Given the description of an element on the screen output the (x, y) to click on. 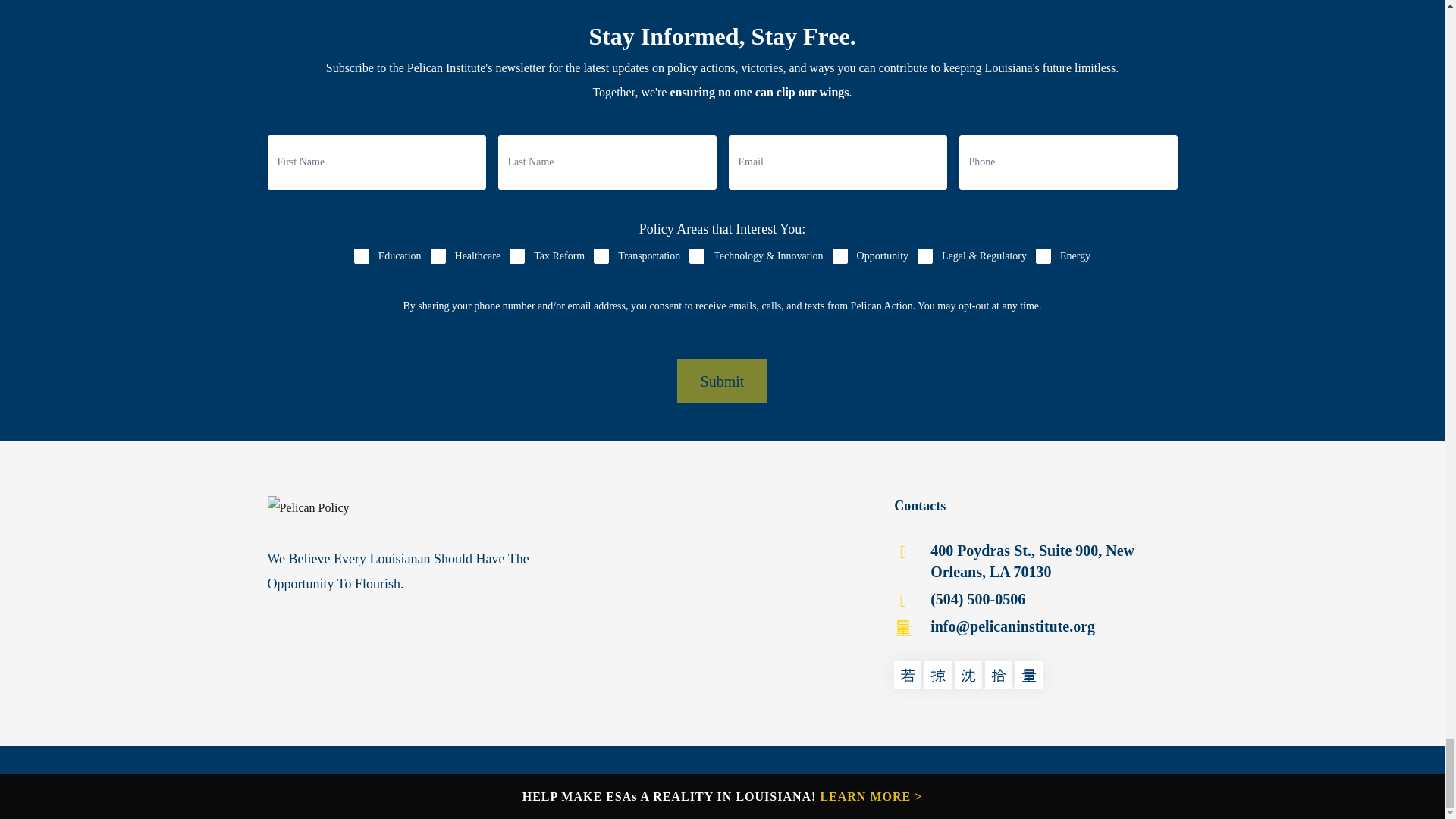
Opportunity (839, 255)
Submit (722, 381)
Education (361, 255)
Energy (1043, 255)
Healthcare (437, 255)
Tax Reform (516, 255)
Transportation (601, 255)
